Given the description of an element on the screen output the (x, y) to click on. 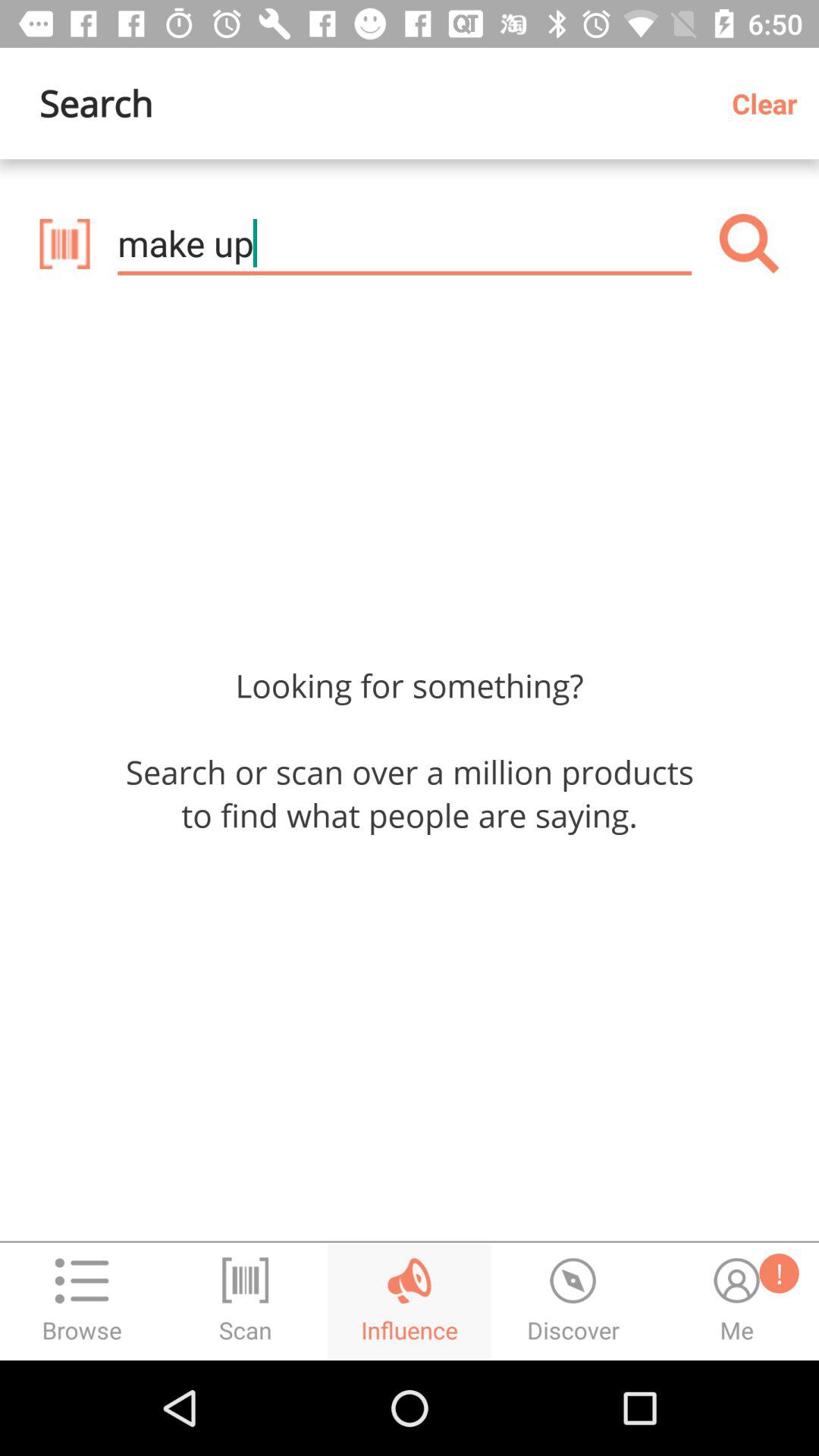
search option (749, 243)
